Given the description of an element on the screen output the (x, y) to click on. 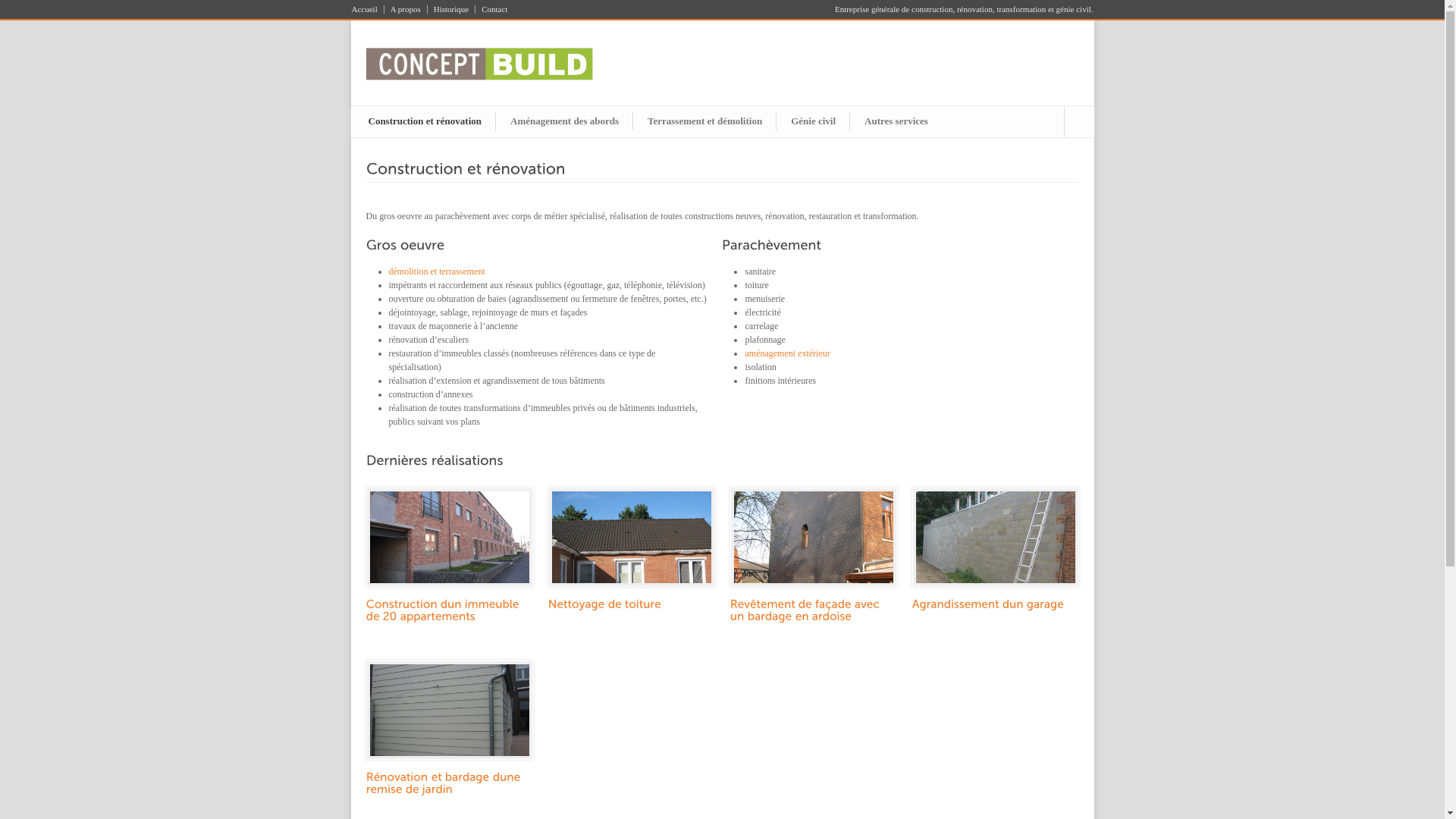
Autres services Element type: text (895, 121)
Accueil Element type: text (367, 9)
Historique Element type: text (451, 9)
Contact Element type: text (491, 9)
A propos Element type: text (405, 9)
Nettoyage de toiture Element type: text (603, 603)
